Given the description of an element on the screen output the (x, y) to click on. 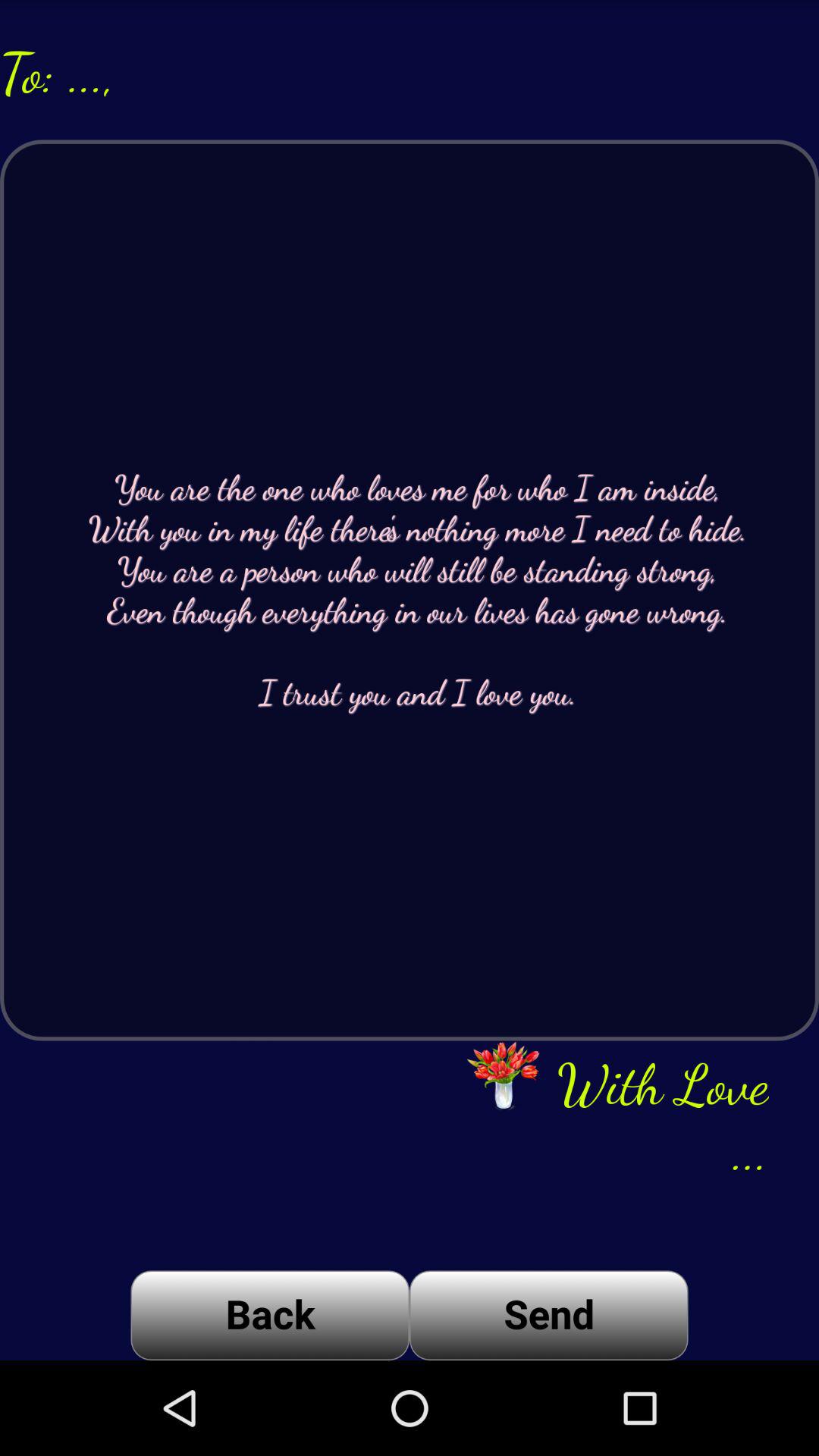
swipe until the you are the item (409, 589)
